Given the description of an element on the screen output the (x, y) to click on. 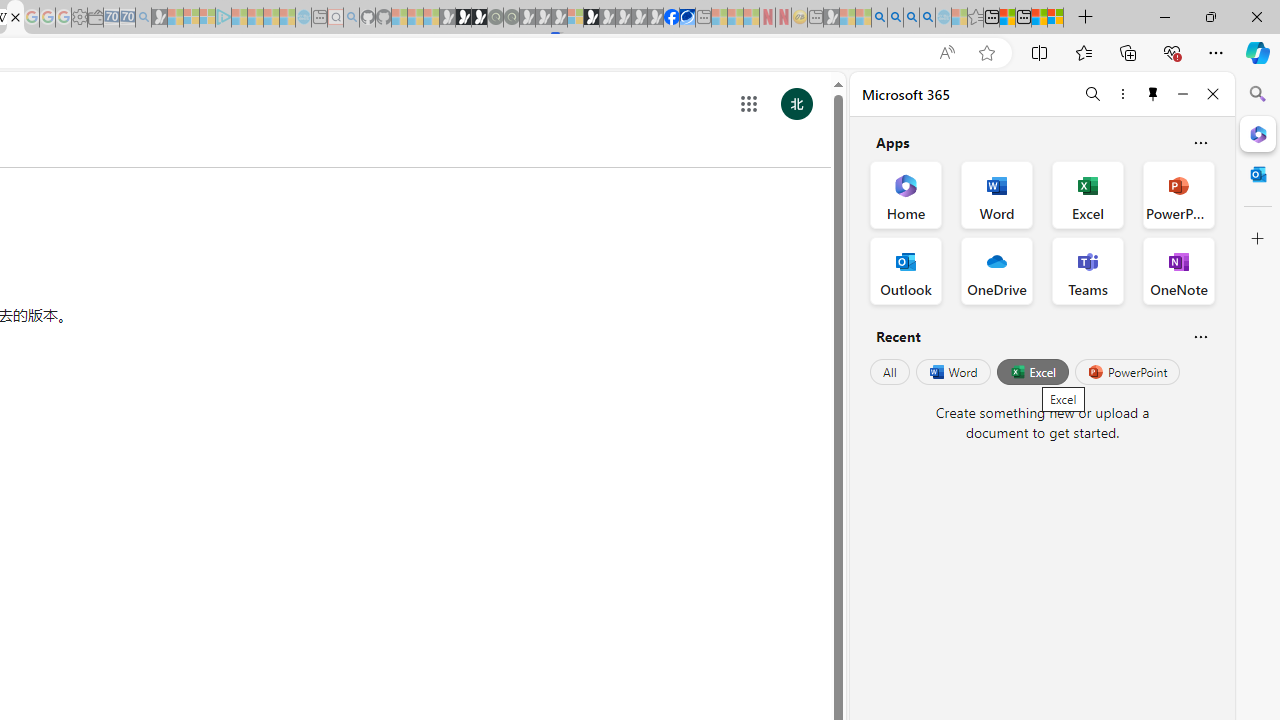
github - Search - Sleeping (351, 17)
Microsoft Start Gaming - Sleeping (159, 17)
Microsoft account | Privacy - Sleeping (207, 17)
Home | Sky Blue Bikes - Sky Blue Bikes - Sleeping (303, 17)
Google Chrome Internet Browser Download - Search Images (927, 17)
Future Focus Report 2024 - Sleeping (511, 17)
New tab - Sleeping (815, 17)
Wallet - Sleeping (95, 17)
